Given the description of an element on the screen output the (x, y) to click on. 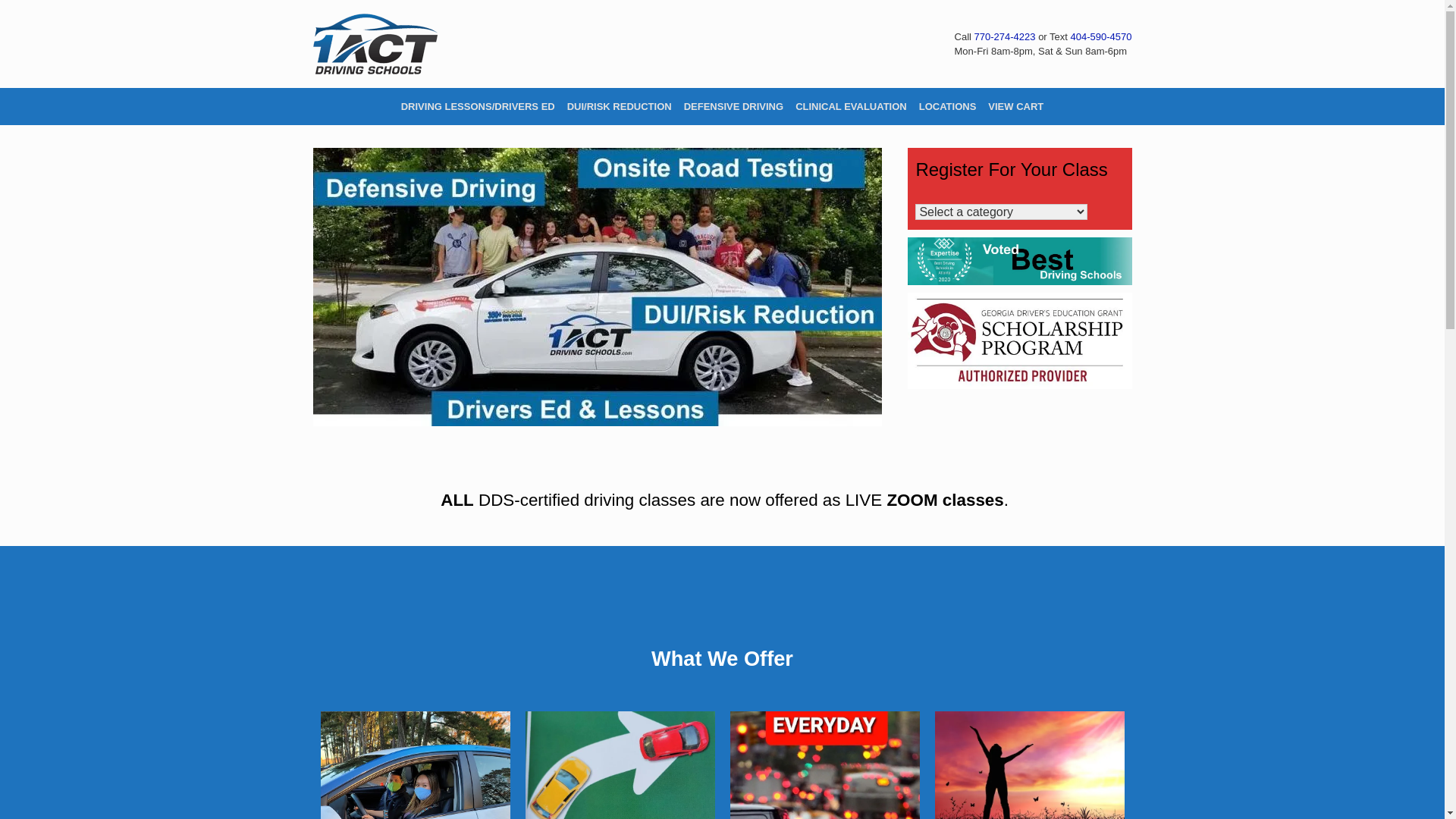
DEFENSIVE DRIVING Element type: text (733, 106)
DUI/RISK REDUCTION Element type: text (619, 106)
VIEW CART Element type: text (1015, 106)
CLINICAL EVALUATION Element type: text (851, 106)
1 ACT Driving Schools Element type: hover (374, 43)
404-590-4570 Element type: text (1101, 35)
LOCATIONS Element type: text (947, 106)
DRIVING LESSONS/DRIVERS ED Element type: text (478, 106)
770-274-4223 Element type: text (1004, 35)
